Given the description of an element on the screen output the (x, y) to click on. 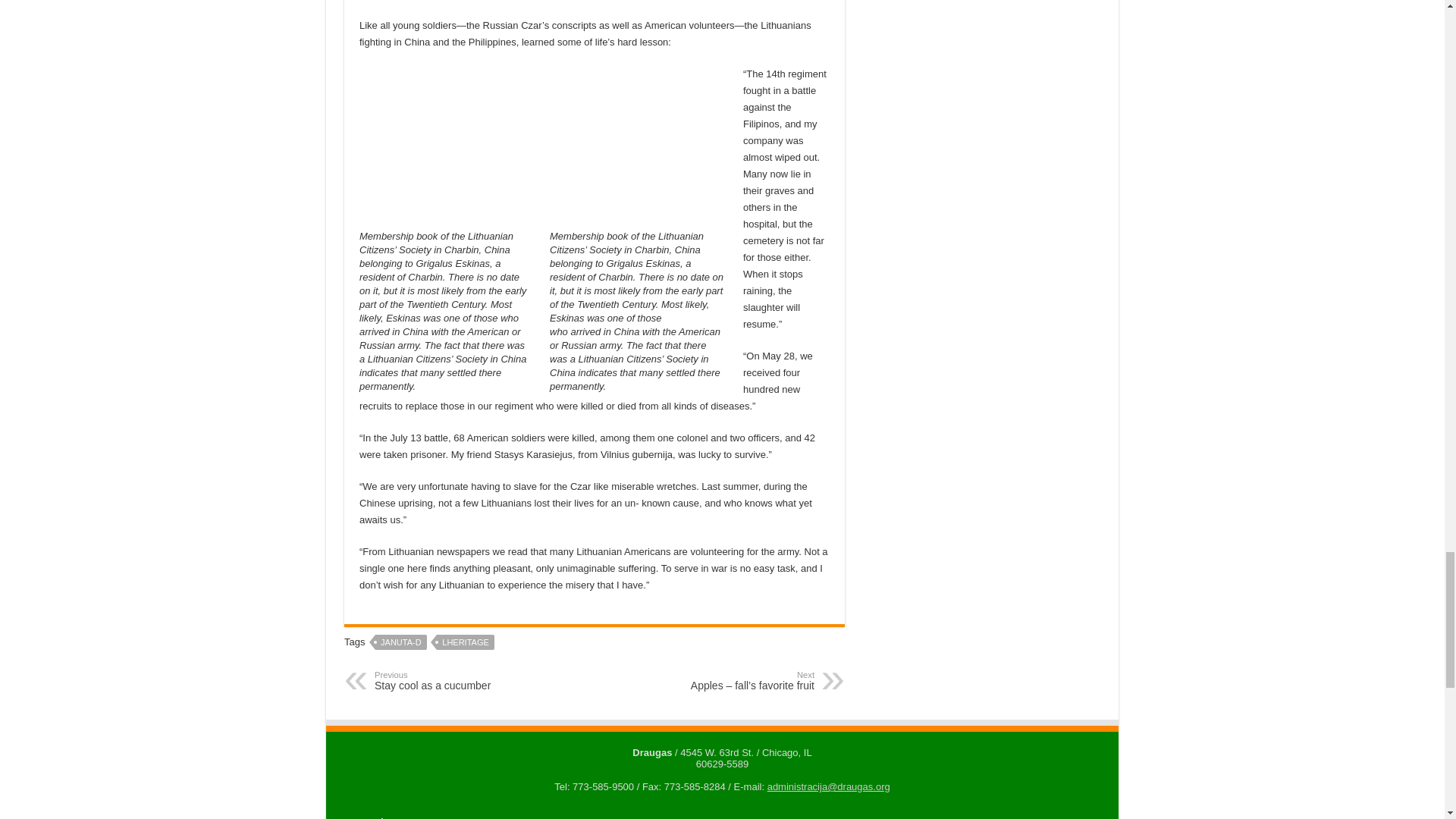
LHERITAGE (465, 642)
JANUTA-D (400, 642)
